Given the description of an element on the screen output the (x, y) to click on. 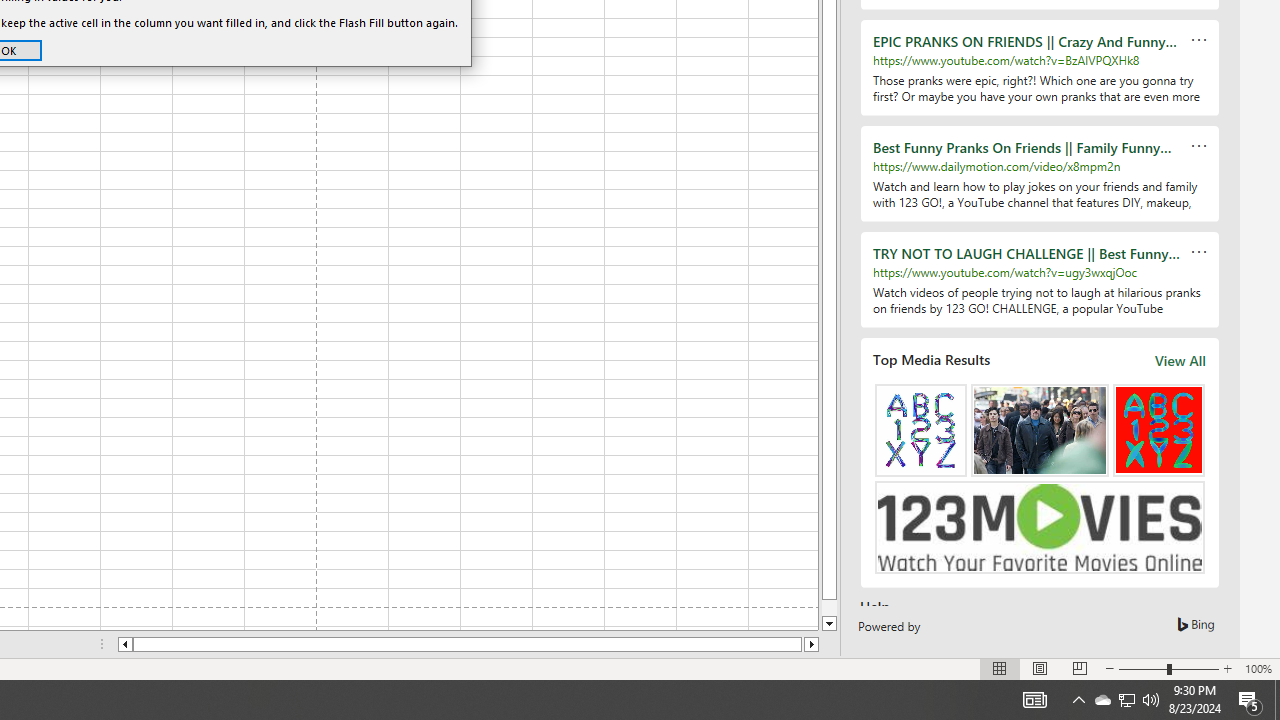
Show desktop (1277, 699)
User Promoted Notification Area (1126, 699)
AutomationID: 4105 (1034, 699)
